Given the description of an element on the screen output the (x, y) to click on. 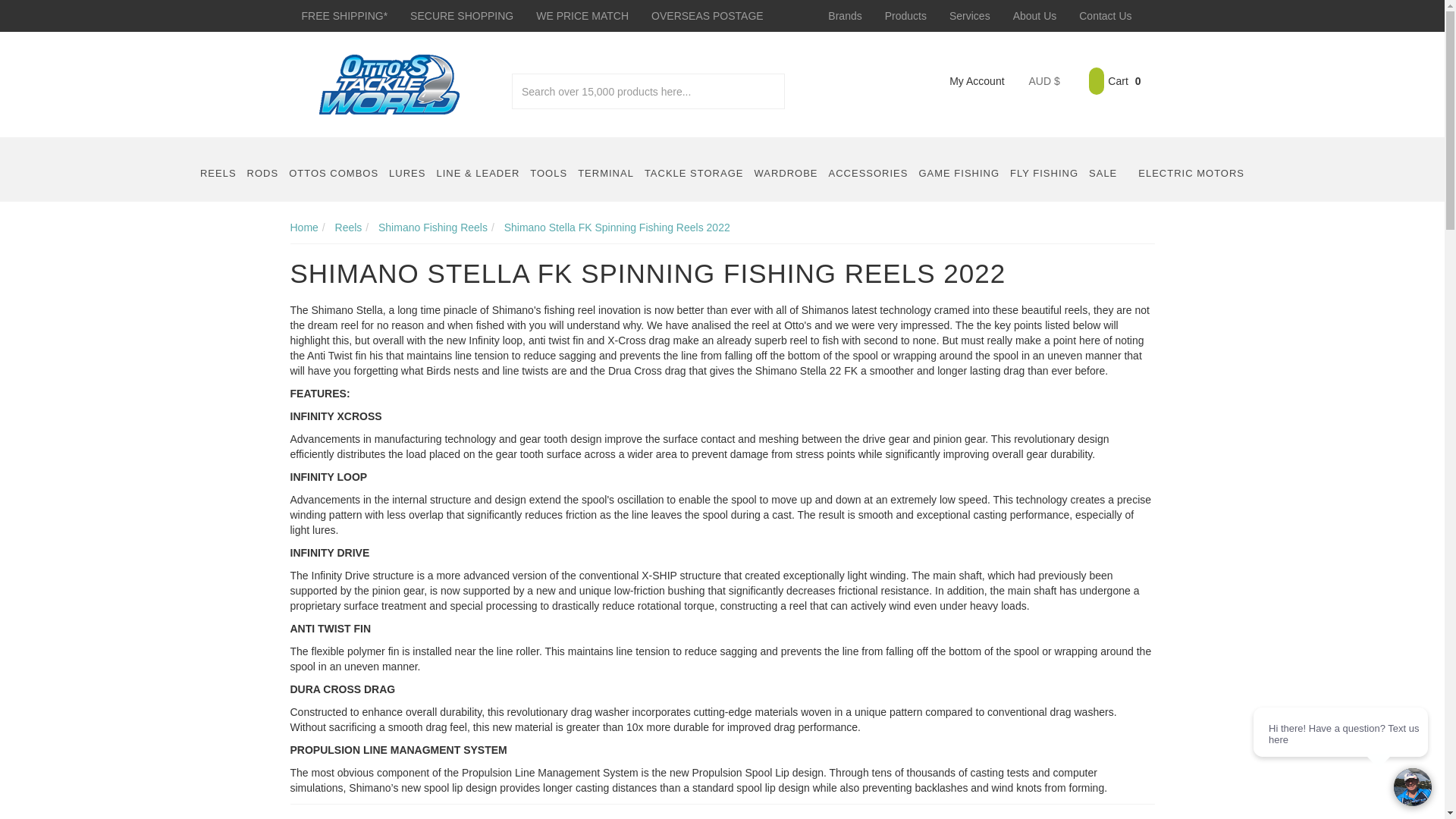
WE PRICE MATCH (582, 15)
Otto's Tackle World (389, 82)
OVERSEAS POSTAGE (707, 15)
SECURE SHOPPING (461, 15)
